Given the description of an element on the screen output the (x, y) to click on. 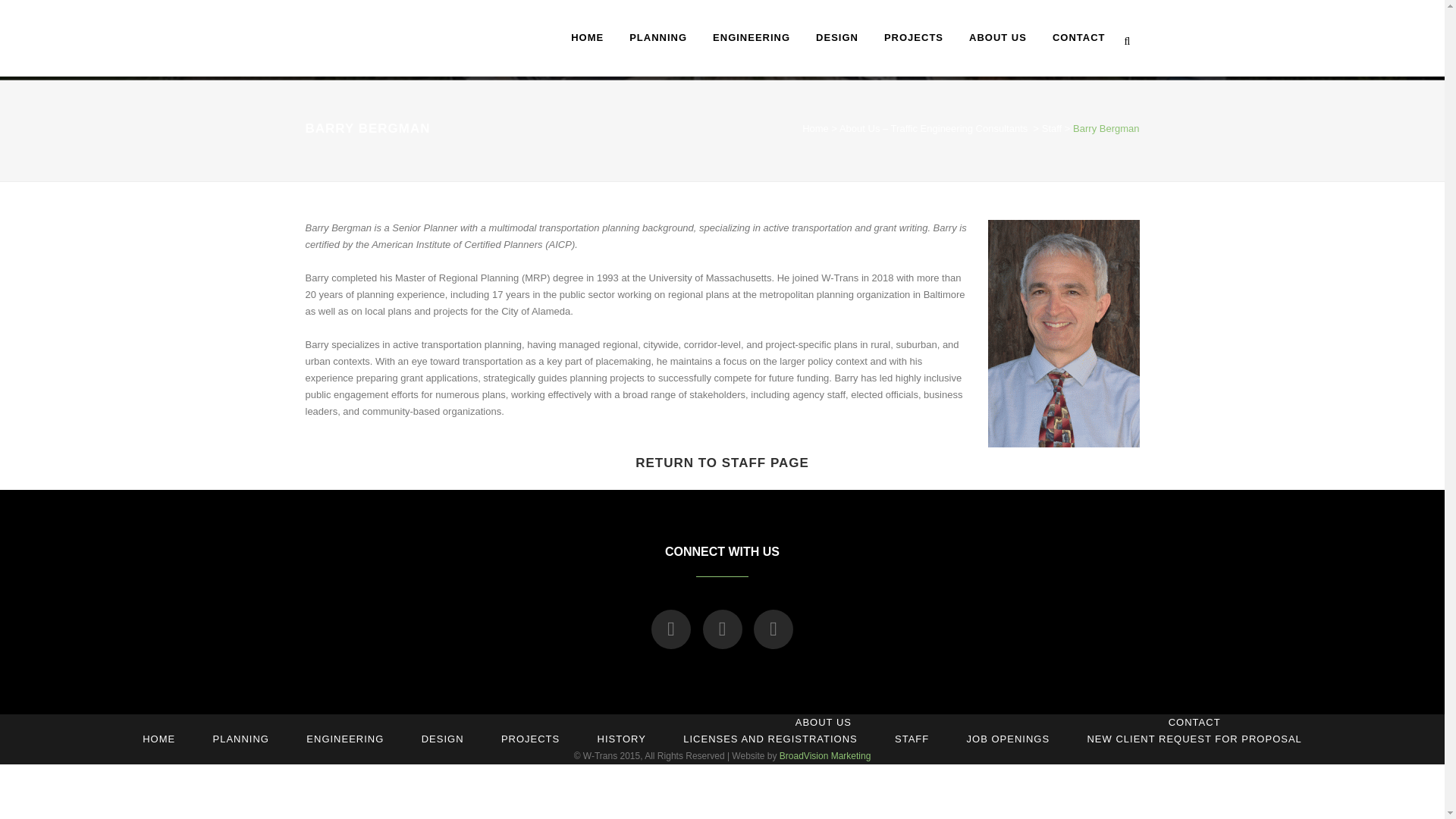
ENGINEERING (344, 738)
HOME (158, 738)
DESIGN (836, 38)
ABOUT US (997, 38)
PLANNING (240, 738)
PROJECTS (913, 38)
PLANNING (657, 38)
ENGINEERING (751, 38)
CONTACT (1078, 38)
Staff (1052, 128)
RETURN TO STAFF PAGE (721, 462)
Home (815, 128)
